Given the description of an element on the screen output the (x, y) to click on. 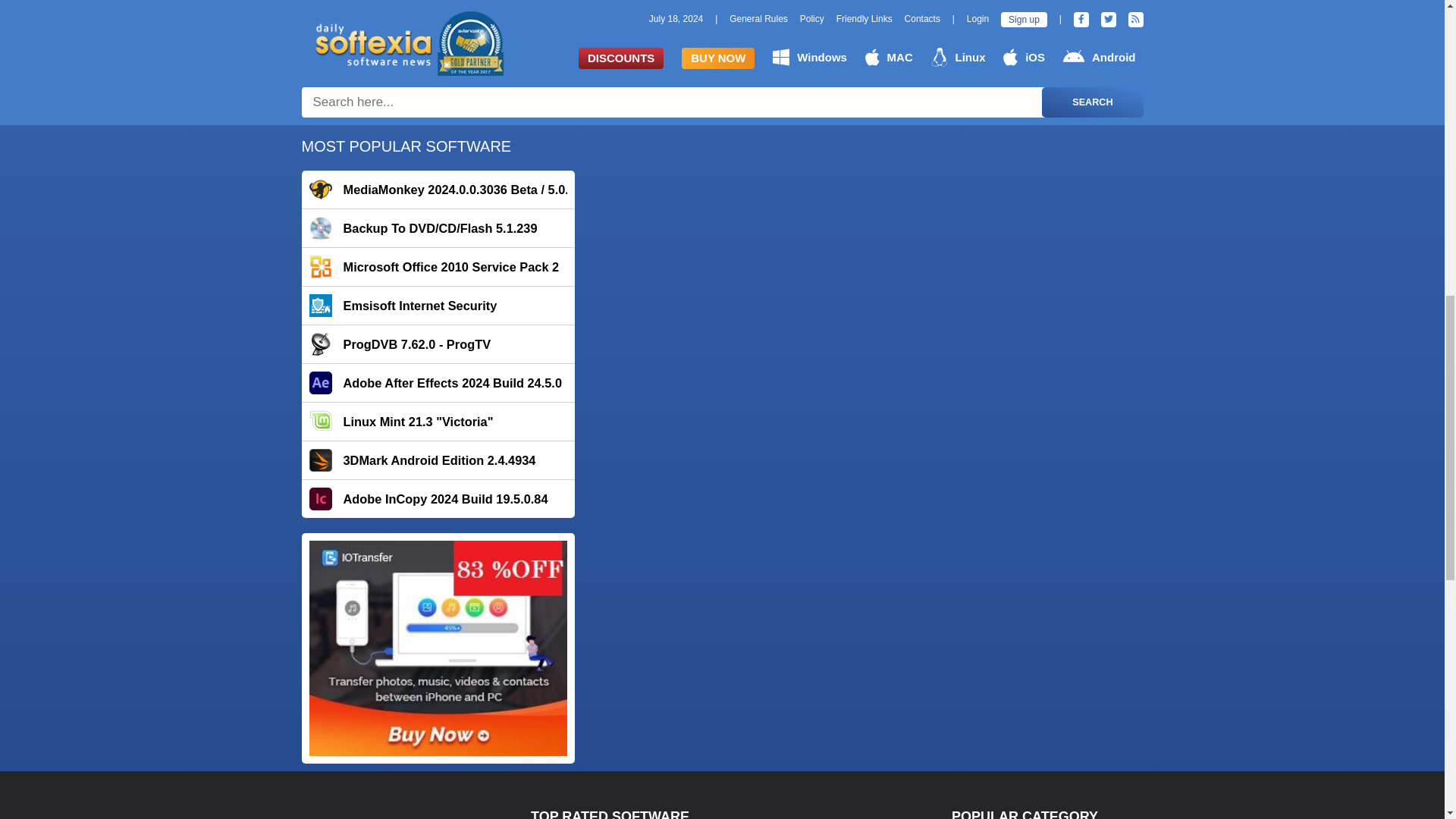
Emsisoft Internet Security (437, 305)
Microsoft Office 2010 Service Pack 2 (437, 266)
